Given the description of an element on the screen output the (x, y) to click on. 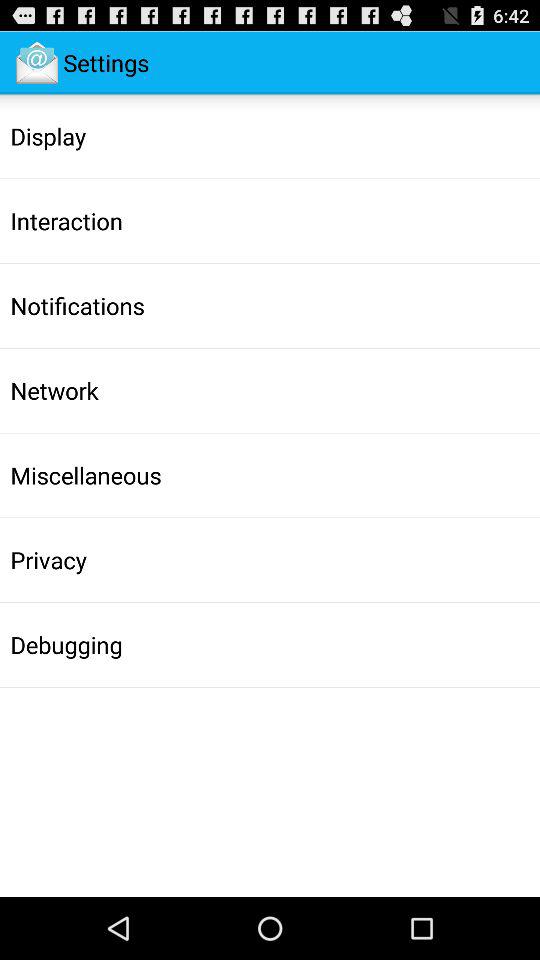
press the app at the bottom left corner (66, 644)
